Given the description of an element on the screen output the (x, y) to click on. 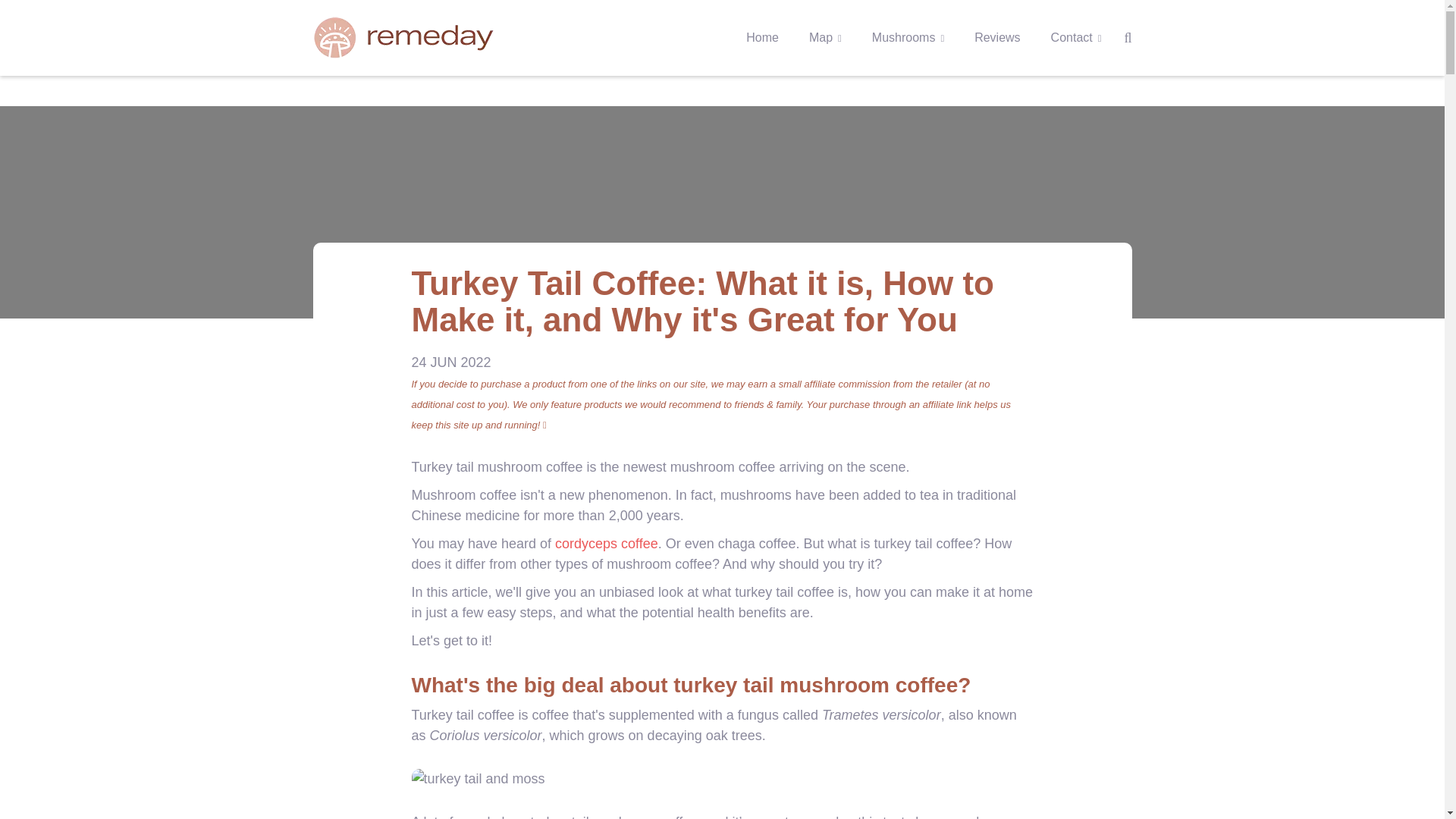
Mushrooms (908, 37)
Map (825, 37)
Home (762, 37)
Reviews (996, 37)
Contact (1076, 37)
